Given the description of an element on the screen output the (x, y) to click on. 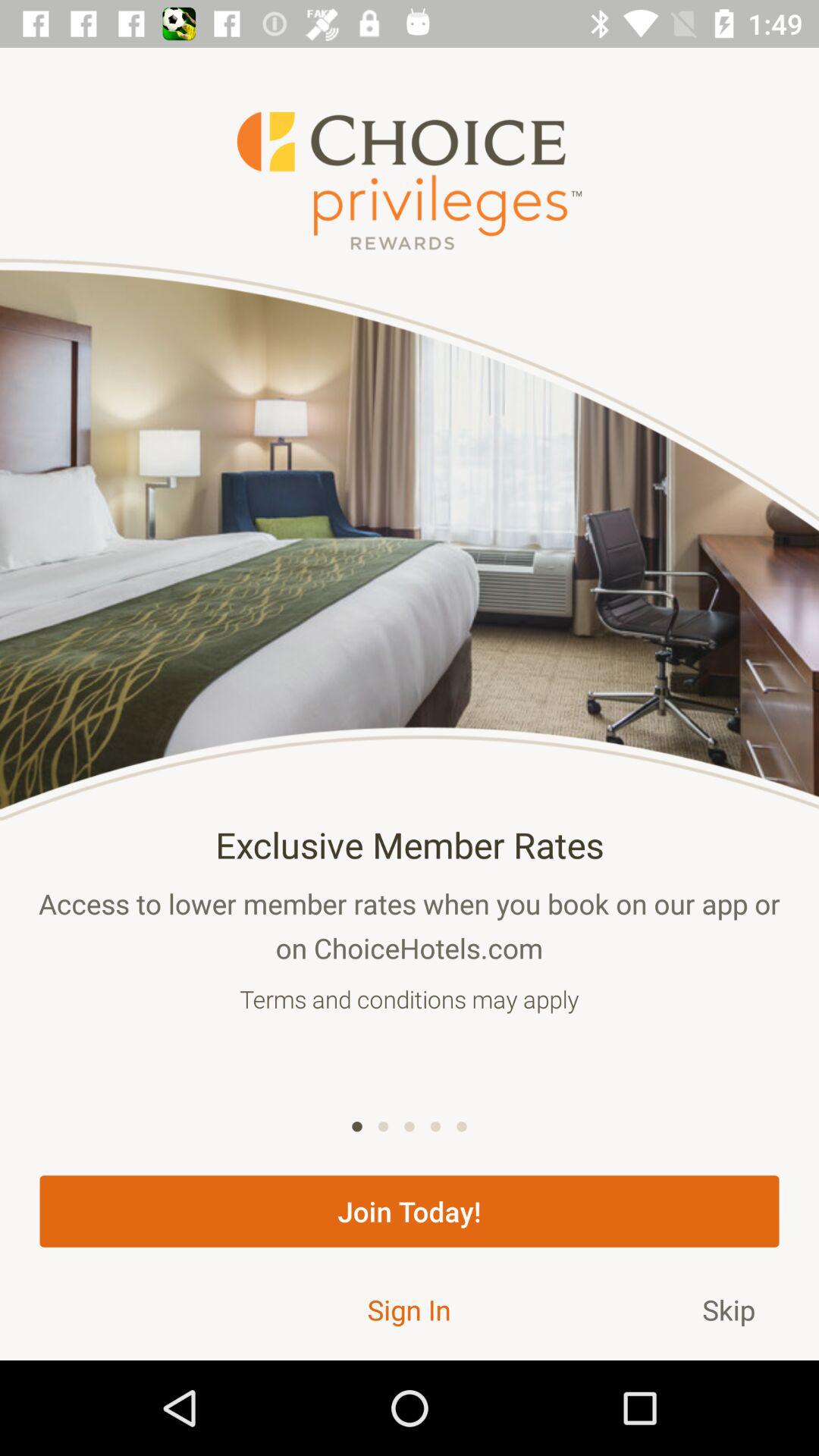
launch the sign in item (408, 1309)
